Given the description of an element on the screen output the (x, y) to click on. 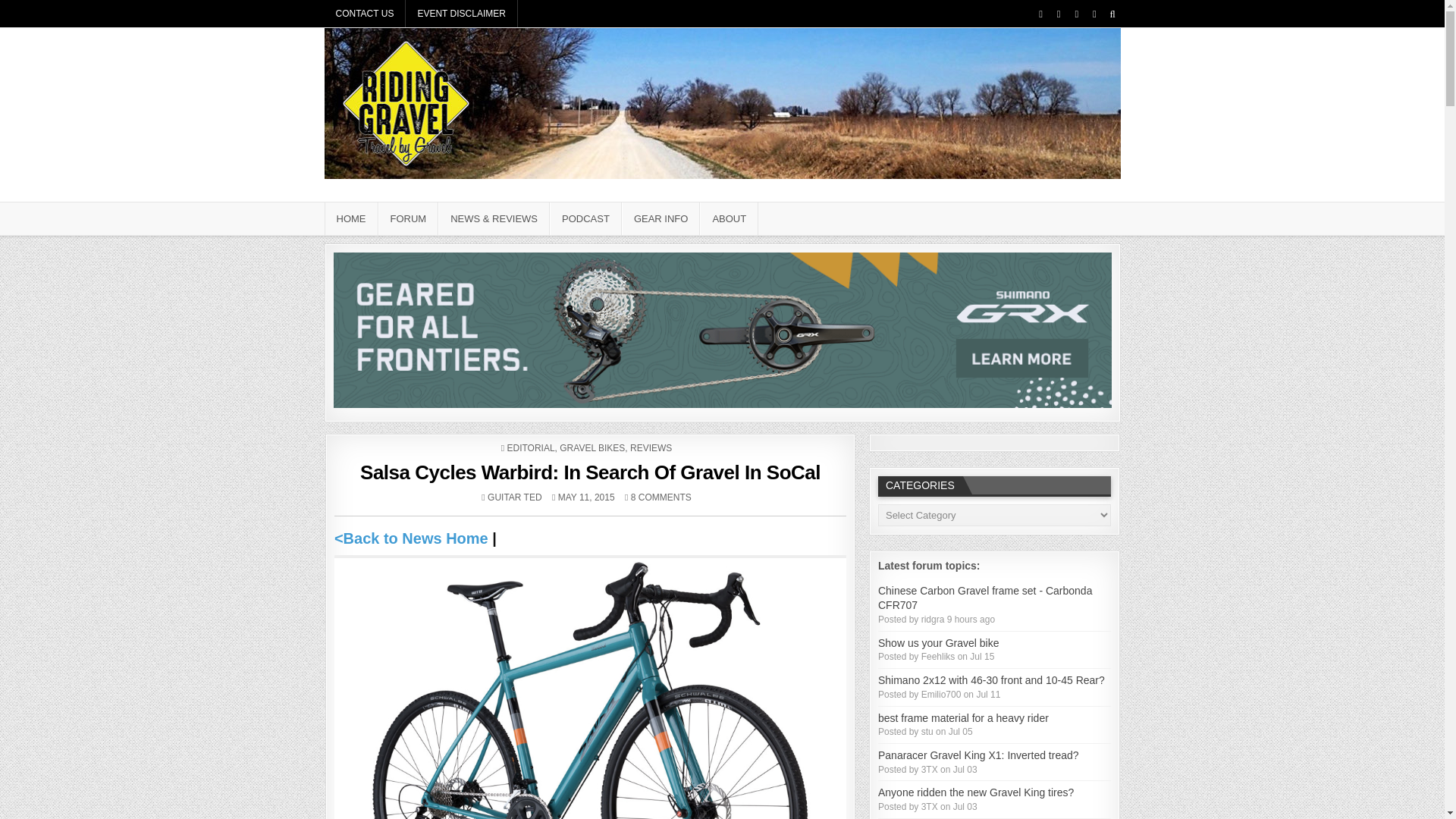
Gravel News (410, 538)
Search (1112, 13)
8 COMMENTS (660, 497)
Facebook (1040, 13)
FORUM (407, 218)
Salsa Cycles Warbird: In Search Of Gravel In SoCal (590, 472)
GRAVEL BIKES (591, 448)
REVIEWS (650, 448)
ABOUT (729, 218)
PODCAST (585, 218)
HOME (351, 218)
Riding Gravel (378, 198)
GEAR INFO (660, 218)
EVENT DISCLAIMER (461, 13)
GUITAR TED (514, 497)
